Given the description of an element on the screen output the (x, y) to click on. 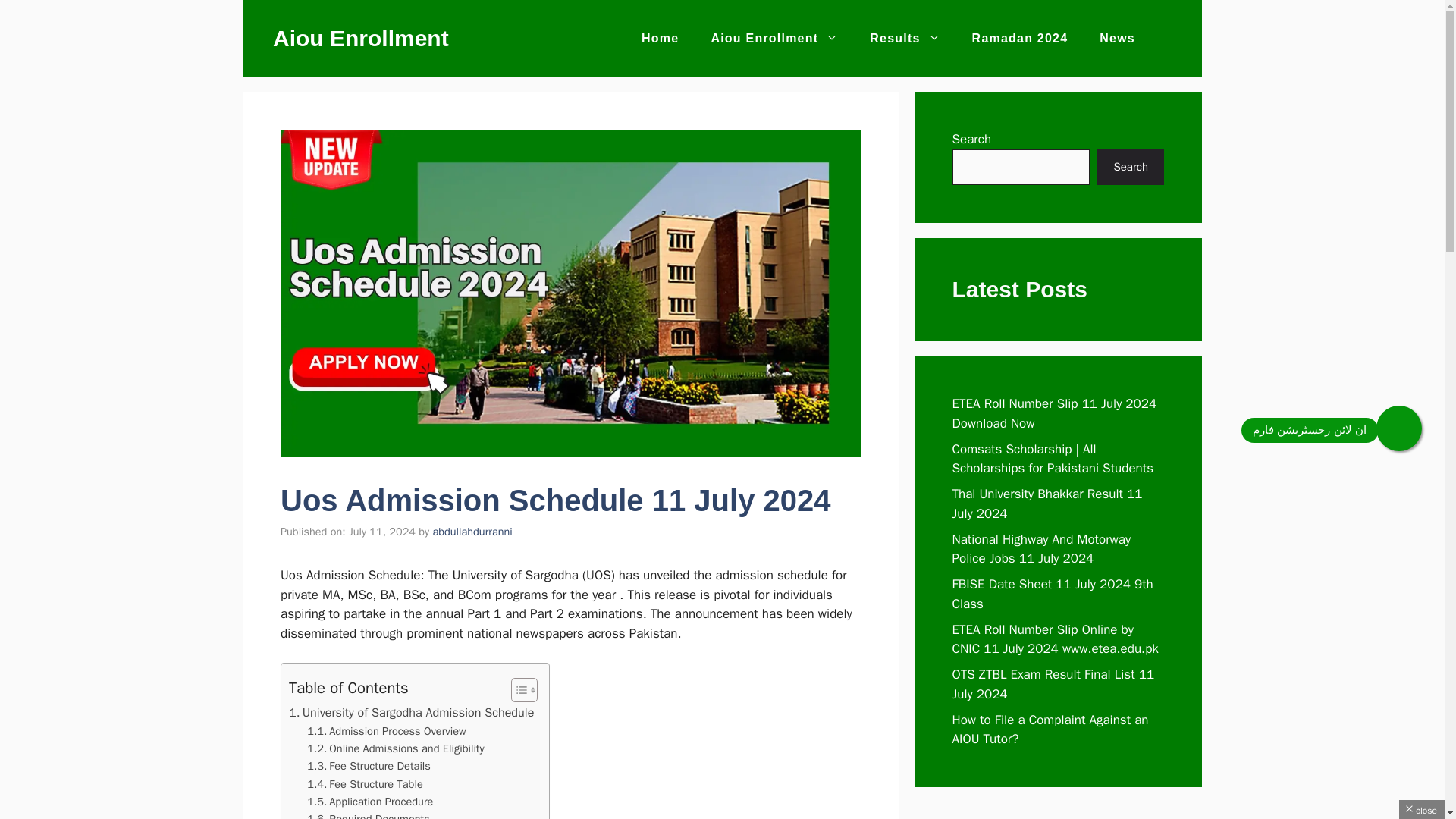
View all posts by abdullahdurranni (472, 531)
Fee Structure Table (365, 784)
Online Admissions and Eligibility (395, 748)
Online Admissions and Eligibility (395, 748)
Search (1130, 166)
News (1117, 38)
Aiou Enrollment (360, 37)
University of Sargodha Admission Schedule   (411, 712)
Fee Structure Details (368, 765)
Ramadan 2024 (1020, 38)
Required Documents (368, 814)
Home (660, 38)
Application Procedure (369, 801)
ETEA Roll Number Slip 11 July 2024 Download Now (1054, 413)
Fee Structure Details (368, 765)
